Given the description of an element on the screen output the (x, y) to click on. 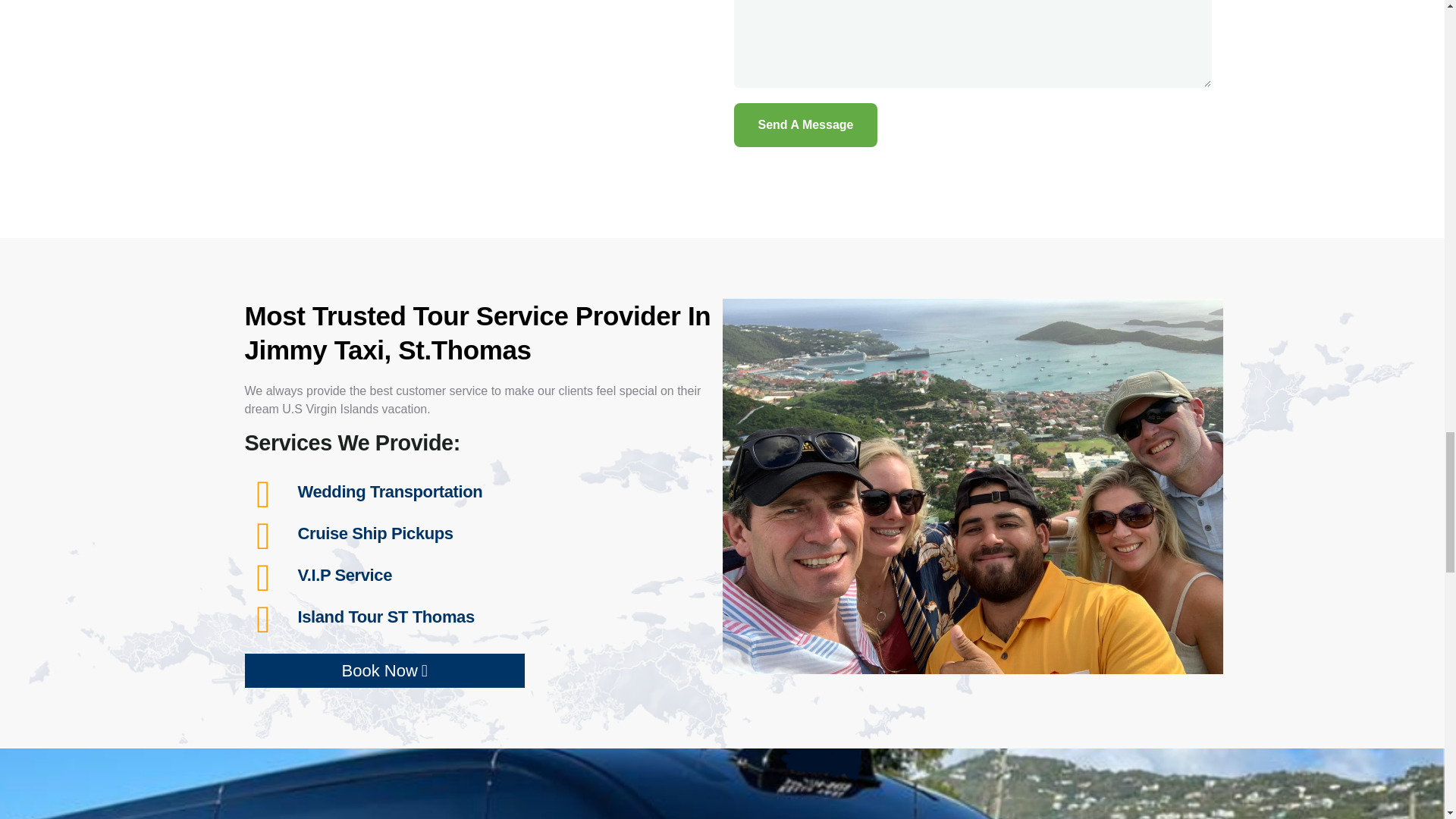
Book Now (384, 670)
Send a Message (805, 125)
Send a Message (805, 125)
